Given the description of an element on the screen output the (x, y) to click on. 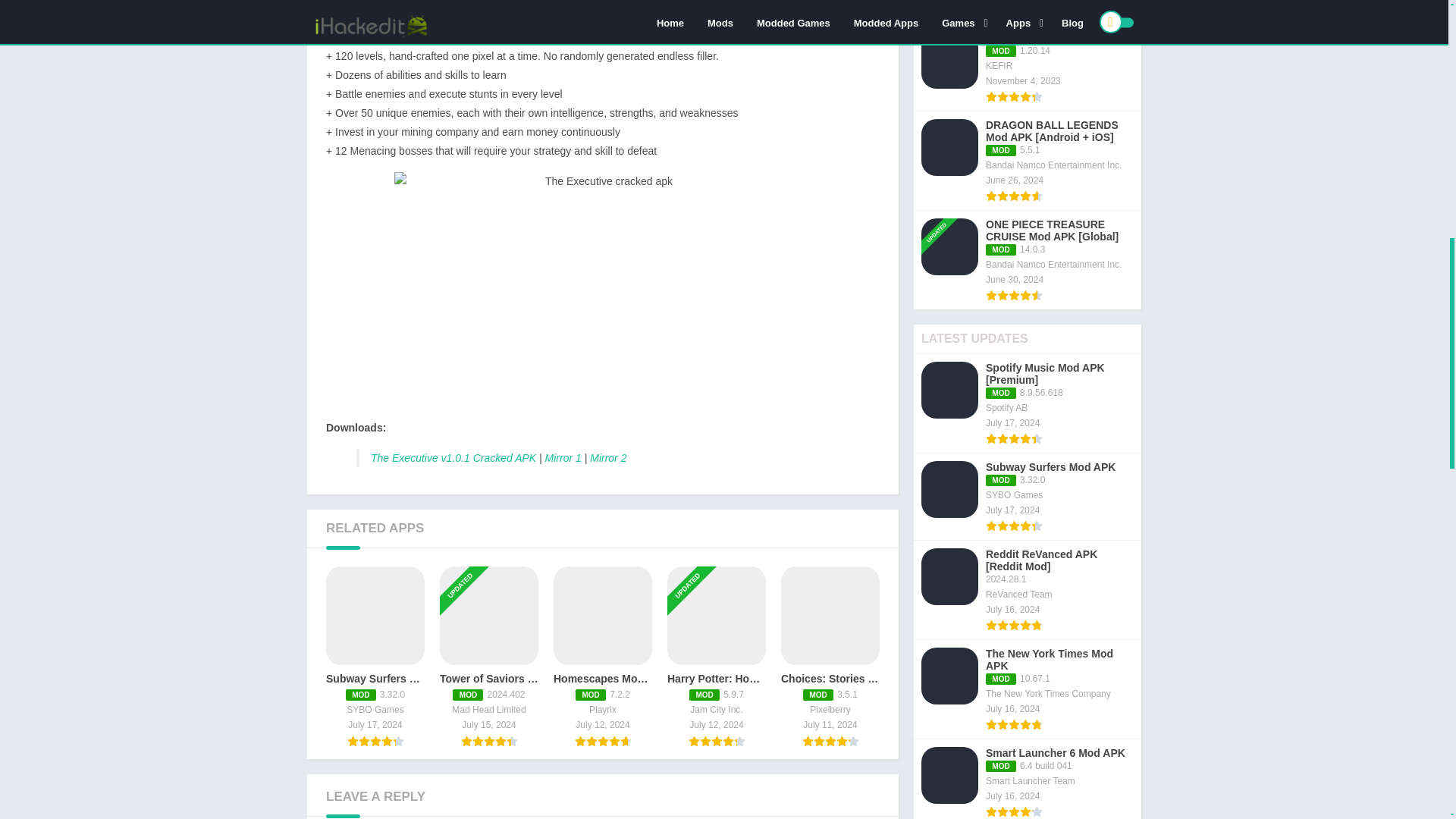
Choices: Stories You Play Mod APK (829, 656)
Homescapes Mod APK (602, 656)
Updated (941, 212)
Updated (466, 560)
Updated (694, 560)
Harry Potter: Hogwarts Mystery Mod APK (715, 656)
Subway Surfers Mod APK (375, 656)
